Given the description of an element on the screen output the (x, y) to click on. 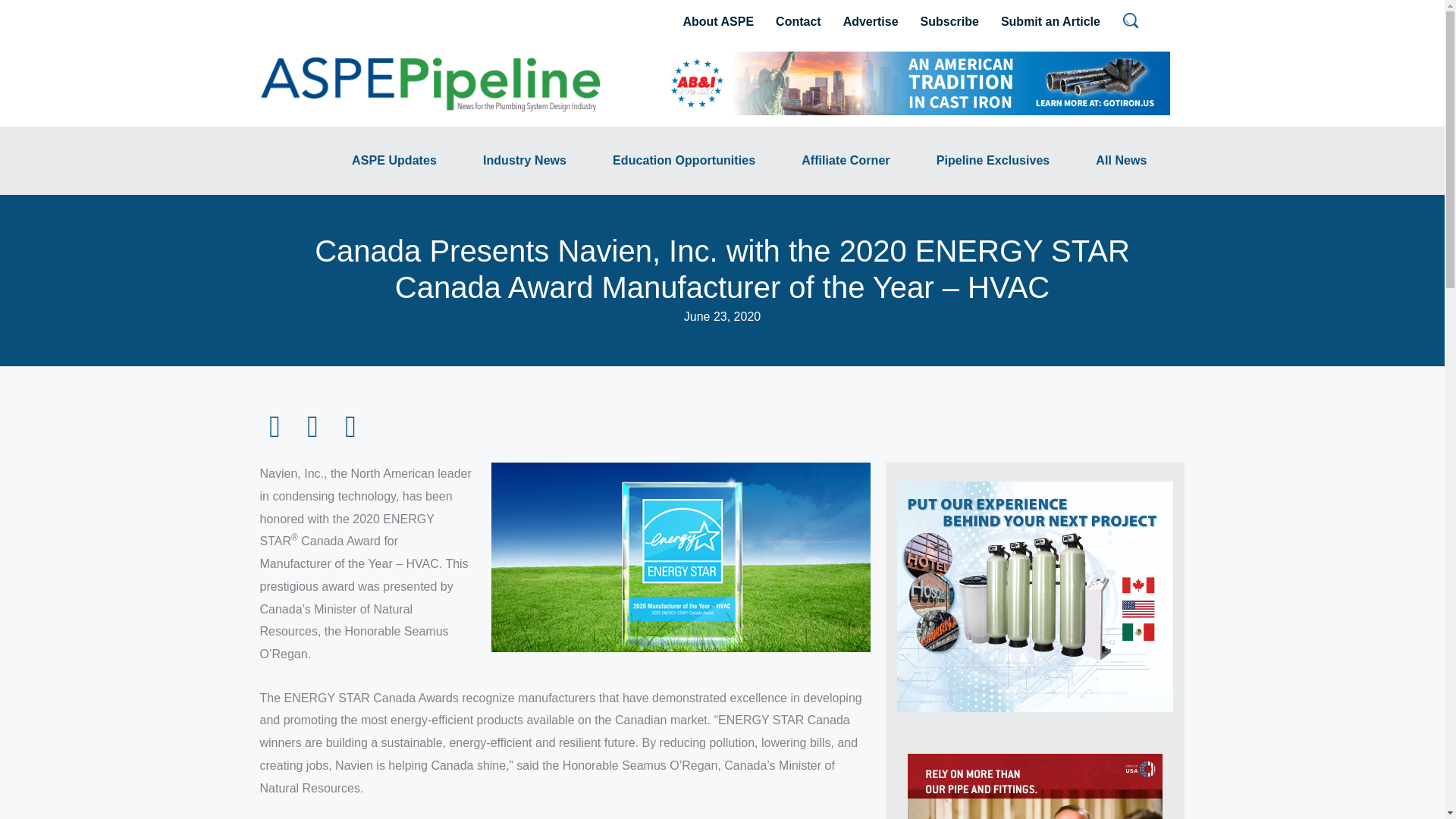
Contact (798, 22)
Advertise (870, 22)
Industry News (524, 160)
ASPE Updates (394, 160)
CPF-ASPE-ROU-Engineer-336x280 (1034, 786)
All News (1121, 160)
Submit an Article (1050, 22)
ASPE-CIED-GIF-ad-336px-X-280px (1034, 596)
Subscribe (950, 22)
Affiliate Corner (845, 160)
Search (1130, 19)
About ASPE (717, 22)
Search (10, 7)
Pipeline Exclusives (993, 160)
Education Opportunities (683, 160)
